Given the description of an element on the screen output the (x, y) to click on. 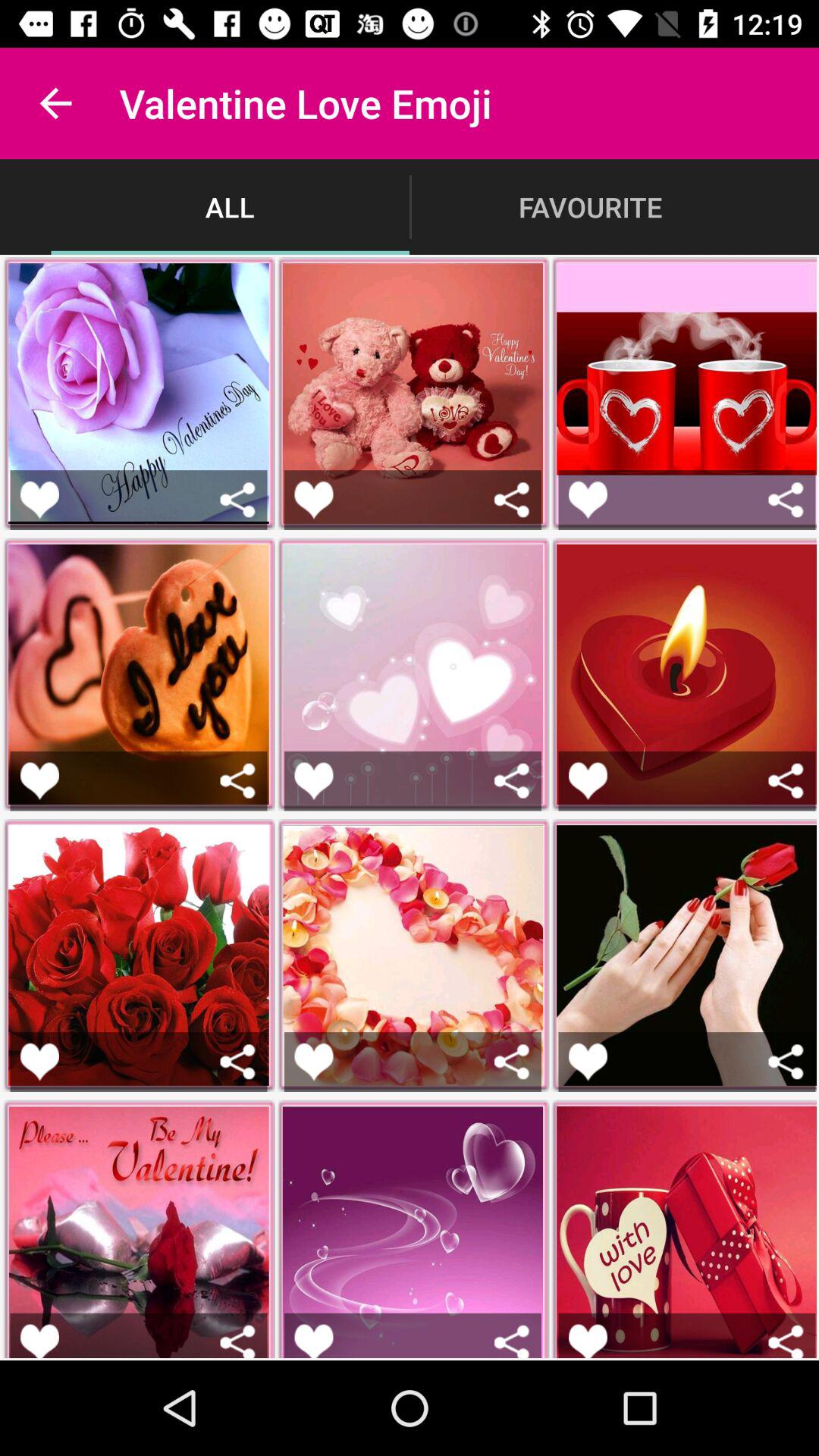
share emoji (511, 1061)
